Given the description of an element on the screen output the (x, y) to click on. 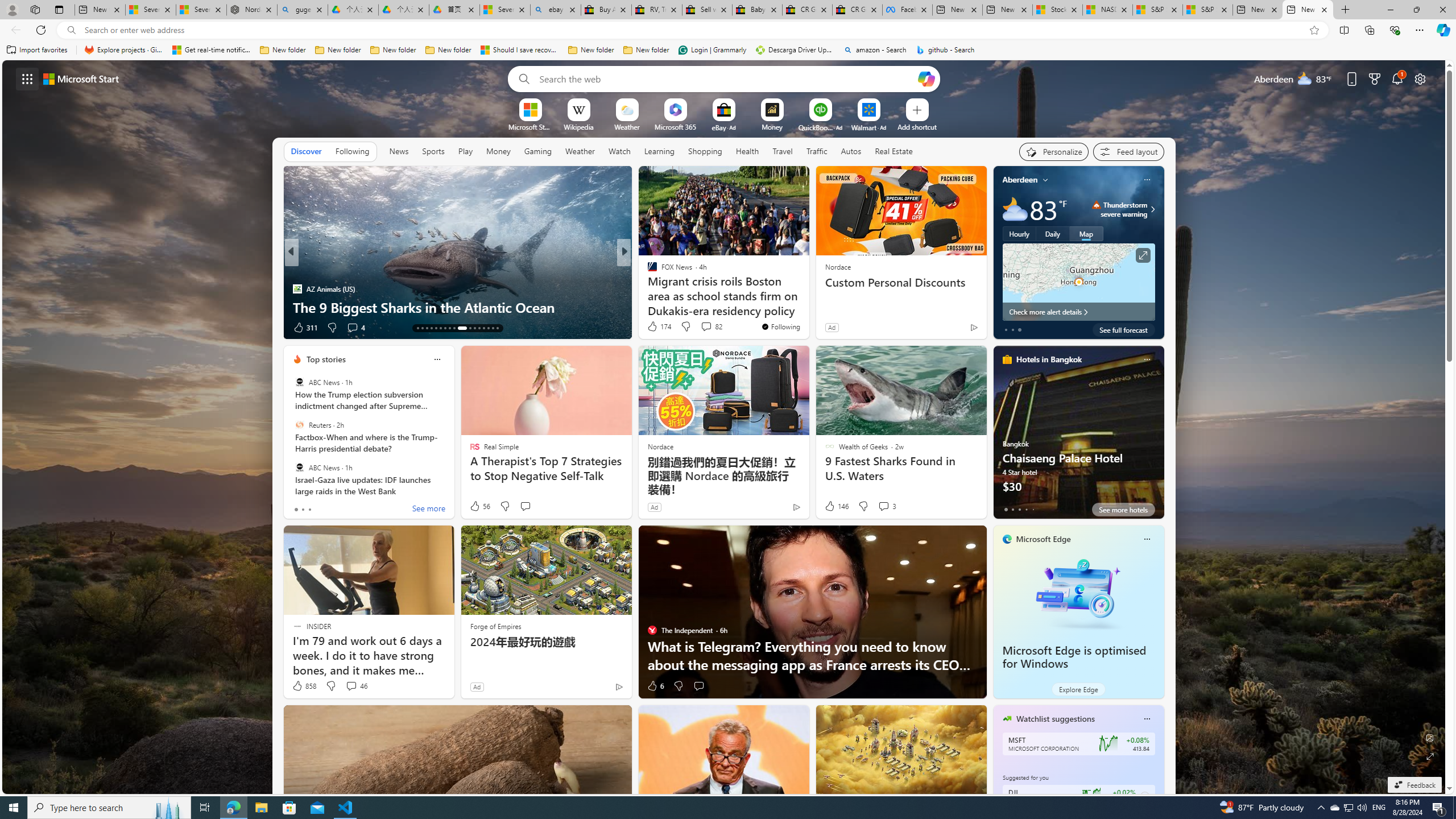
Add a site (916, 126)
82 Like (652, 327)
Keepsake (807, 307)
Notifications (1397, 78)
Play (465, 151)
Komando (647, 288)
Forge of Empires (495, 625)
Start the conversation (698, 685)
Page settings (1420, 78)
CNET (647, 288)
Health (746, 151)
How to Use a Monitor With Your Closed Laptop (807, 307)
Weather (579, 151)
Like (648, 327)
